Given the description of an element on the screen output the (x, y) to click on. 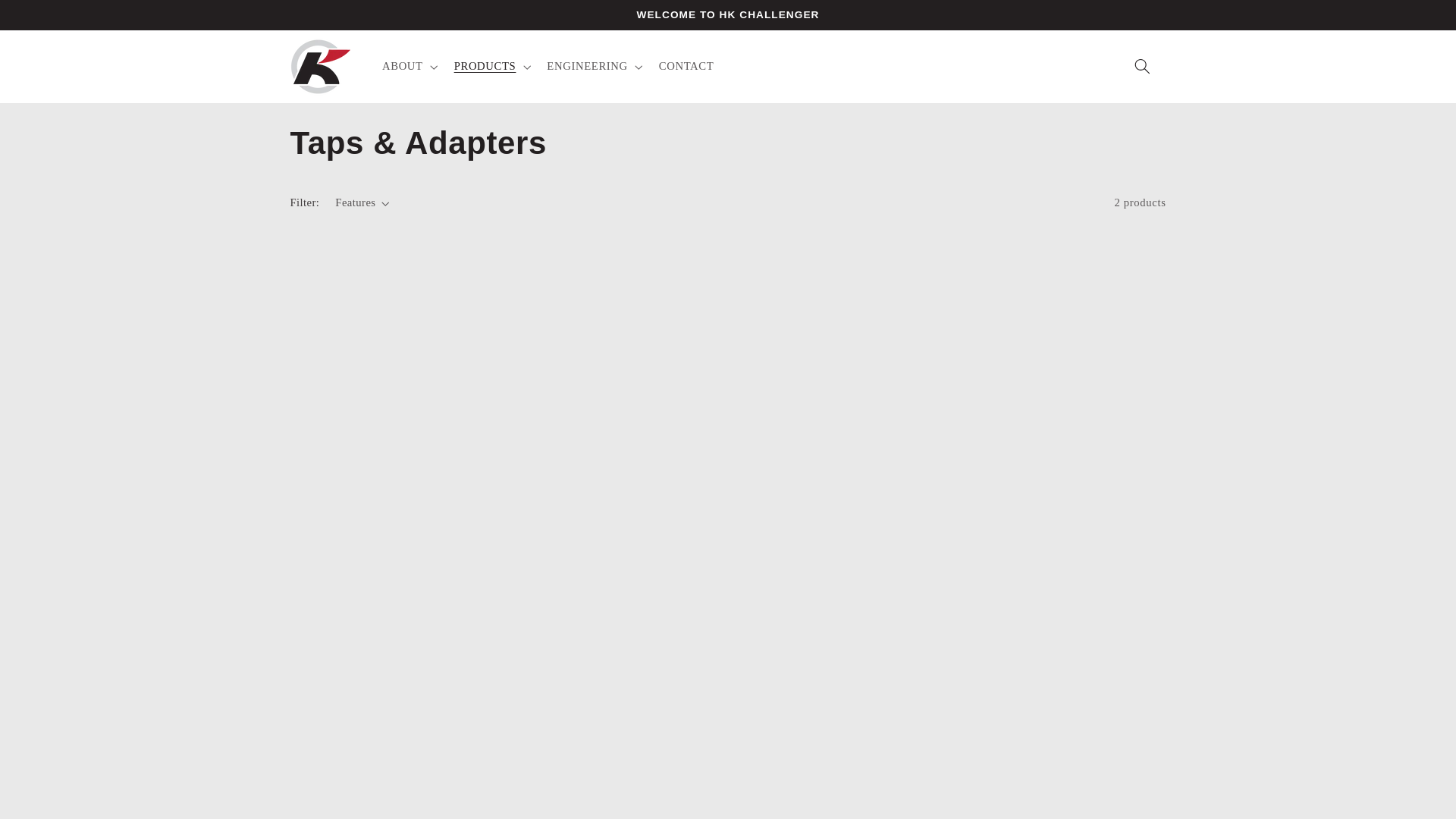
CONTACT (727, 207)
Skip to content (686, 66)
